Given the description of an element on the screen output the (x, y) to click on. 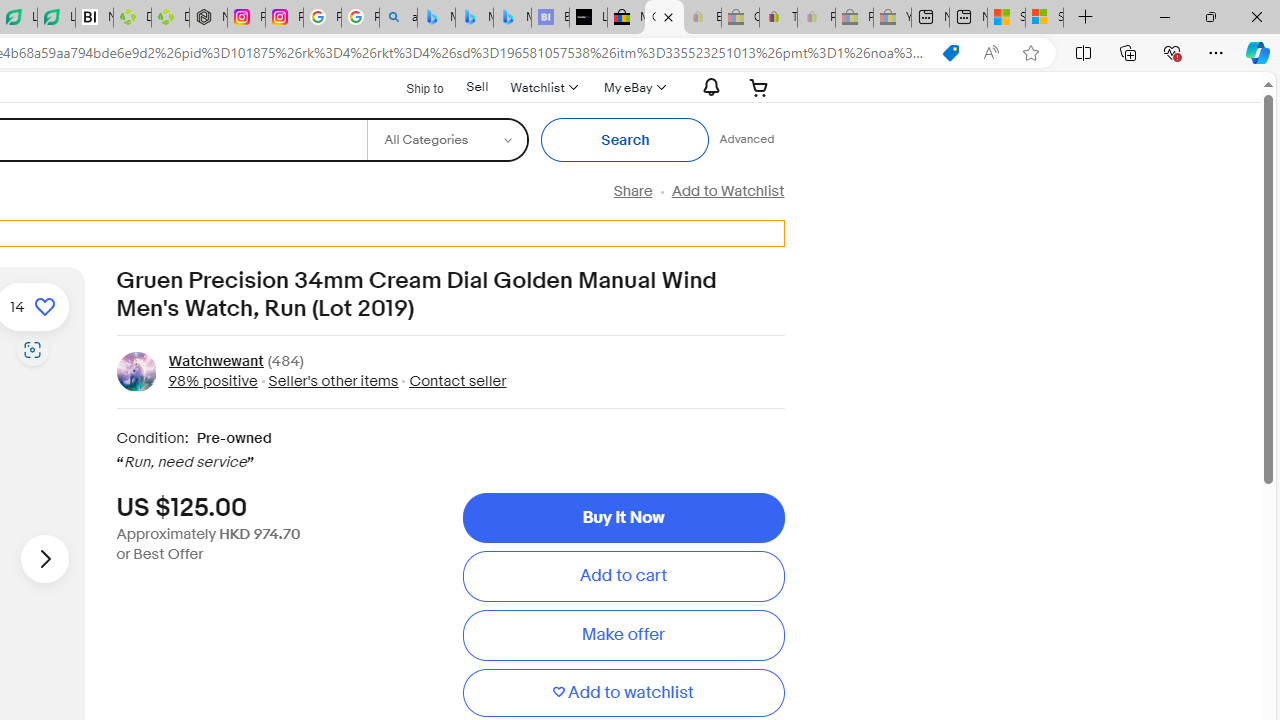
Ship to (412, 85)
Select a category for search (447, 139)
Make offer (623, 635)
Share (632, 191)
Ship to (412, 88)
Buy It Now (623, 517)
Advanced Search (746, 139)
Microsoft Bing Travel - Shangri-La Hotel Bangkok (512, 17)
  Contact seller (452, 380)
Add to watchlist (623, 692)
